Given the description of an element on the screen output the (x, y) to click on. 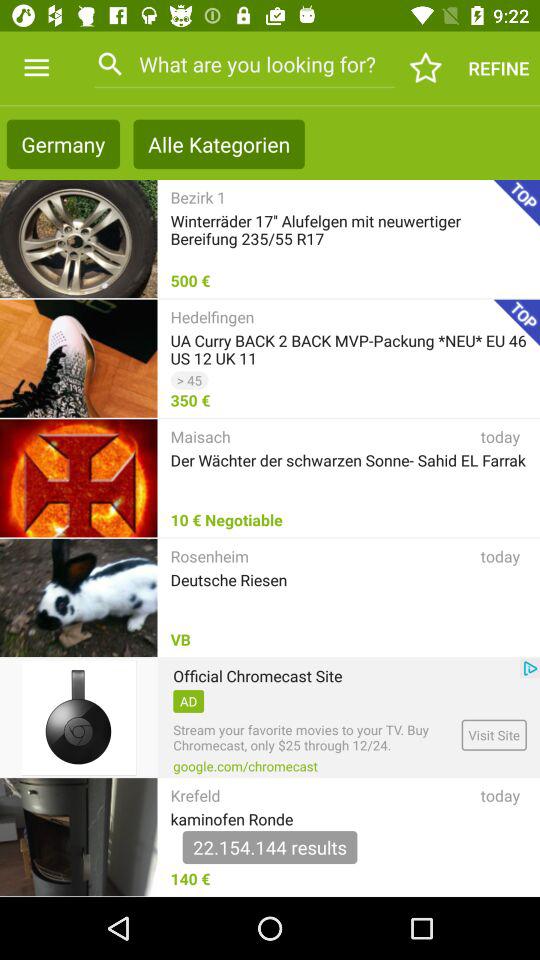
flip until the refine item (498, 67)
